Given the description of an element on the screen output the (x, y) to click on. 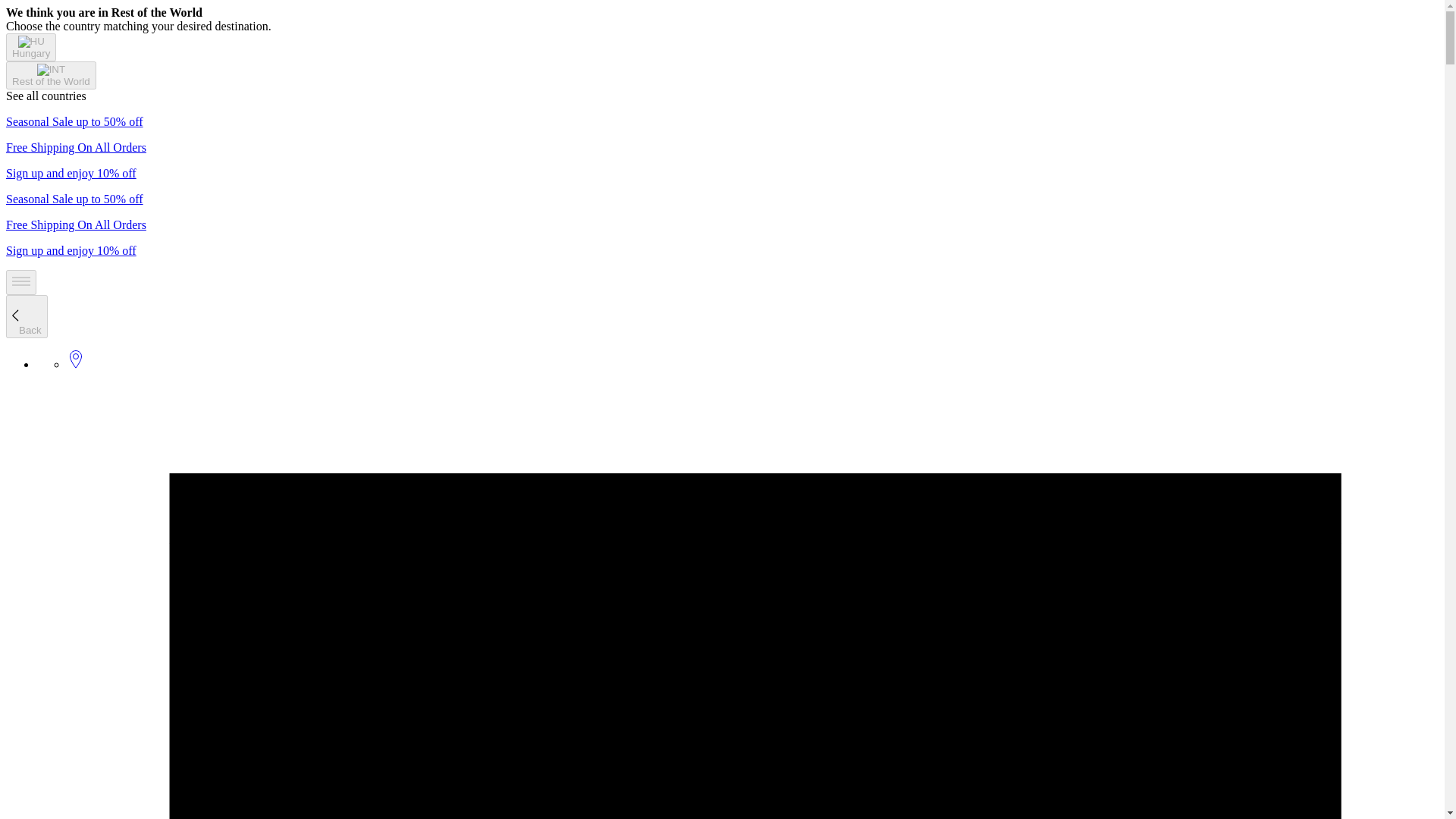
Hungary (30, 47)
Rest of the World (50, 75)
Free Shipping On All Orders (76, 146)
See all countries (45, 95)
Back (26, 316)
Rest of the World (50, 80)
Free Shipping On All Orders (76, 224)
